Given the description of an element on the screen output the (x, y) to click on. 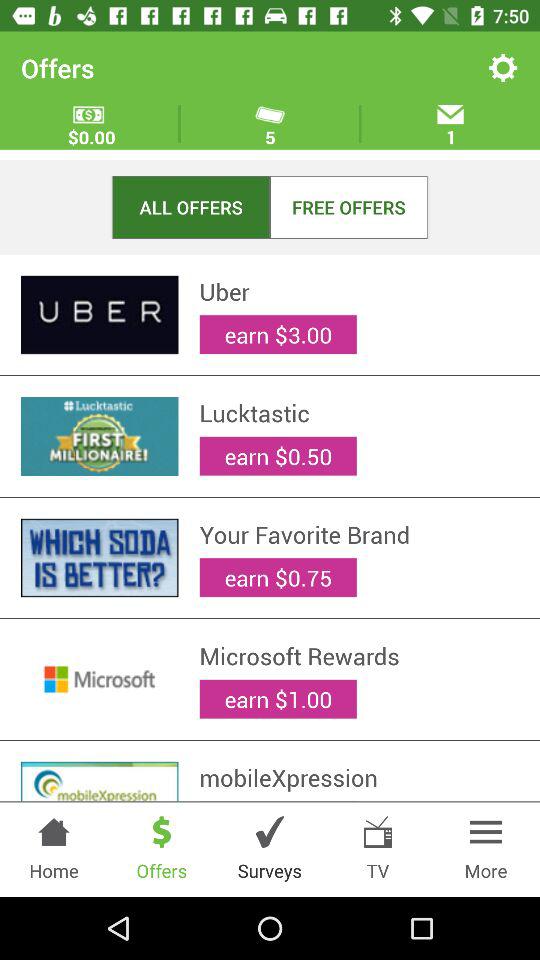
press lucktastic (359, 413)
